Given the description of an element on the screen output the (x, y) to click on. 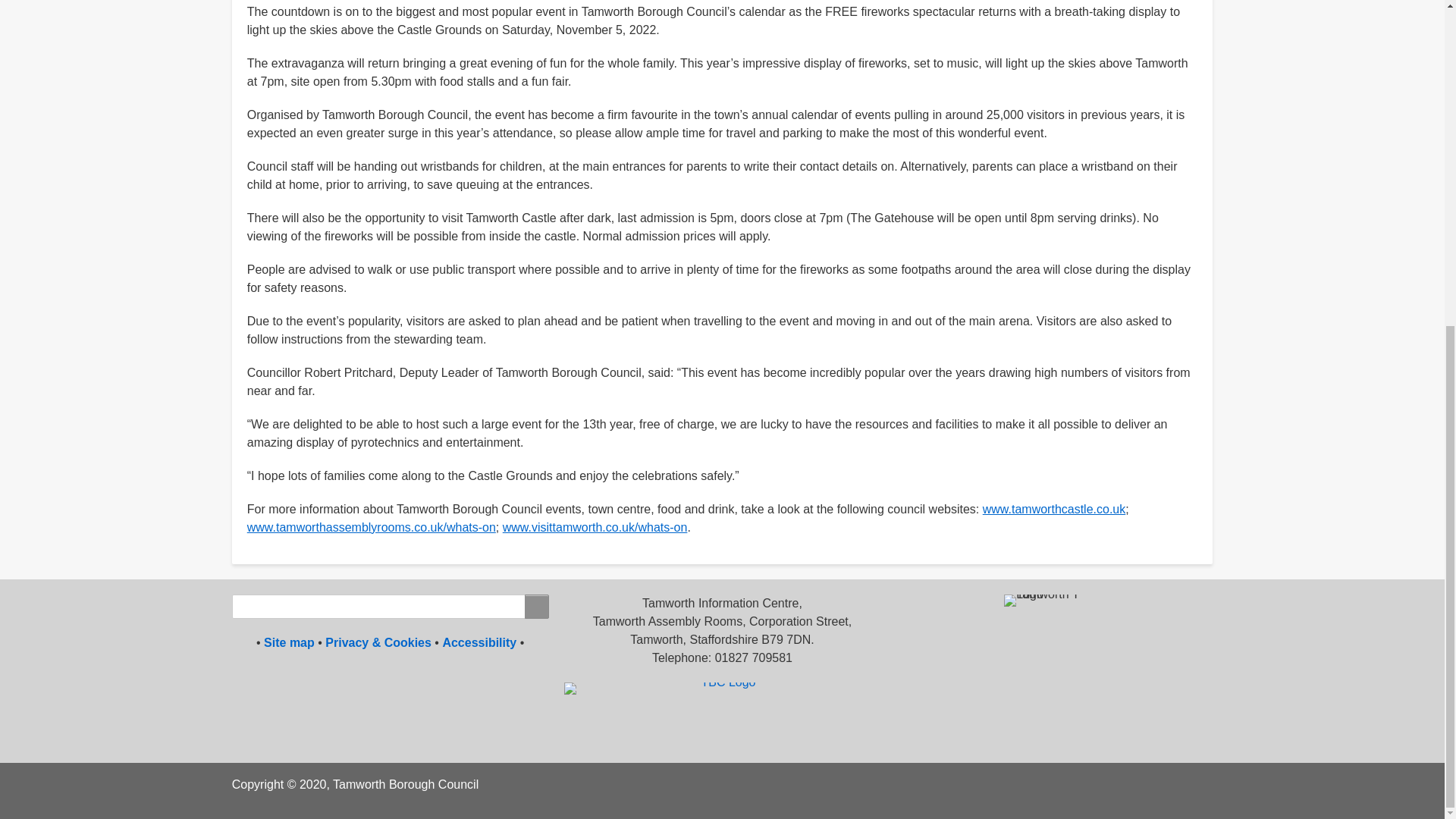
Search (536, 605)
Enter the terms you wish to search for. (389, 605)
Search (536, 605)
